Given the description of an element on the screen output the (x, y) to click on. 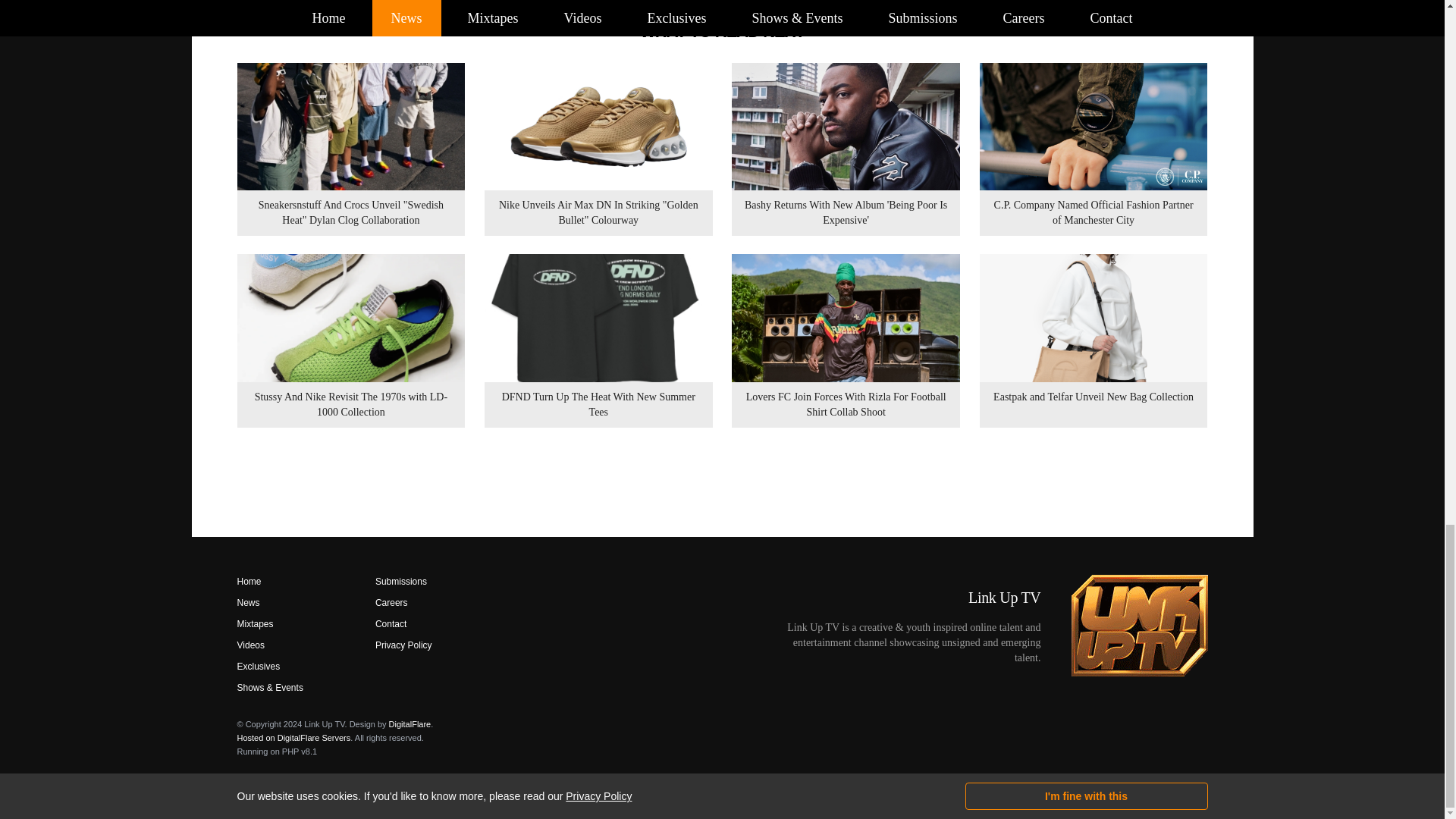
Nike Unveils Air Max DN In Striking  (598, 149)
Bashy Returns With New Album 'Being Poor Is Expensive' (845, 149)
Stussy And Nike Revisit The 1970s with LD-1000 Collection (349, 339)
Eastpak and Telfar Unveil New Bag Collection (1093, 339)
Sneakersnstuff And Crocs Unveil  (349, 149)
DFND Turn Up The Heat With New Summer Tees (598, 339)
